Given the description of an element on the screen output the (x, y) to click on. 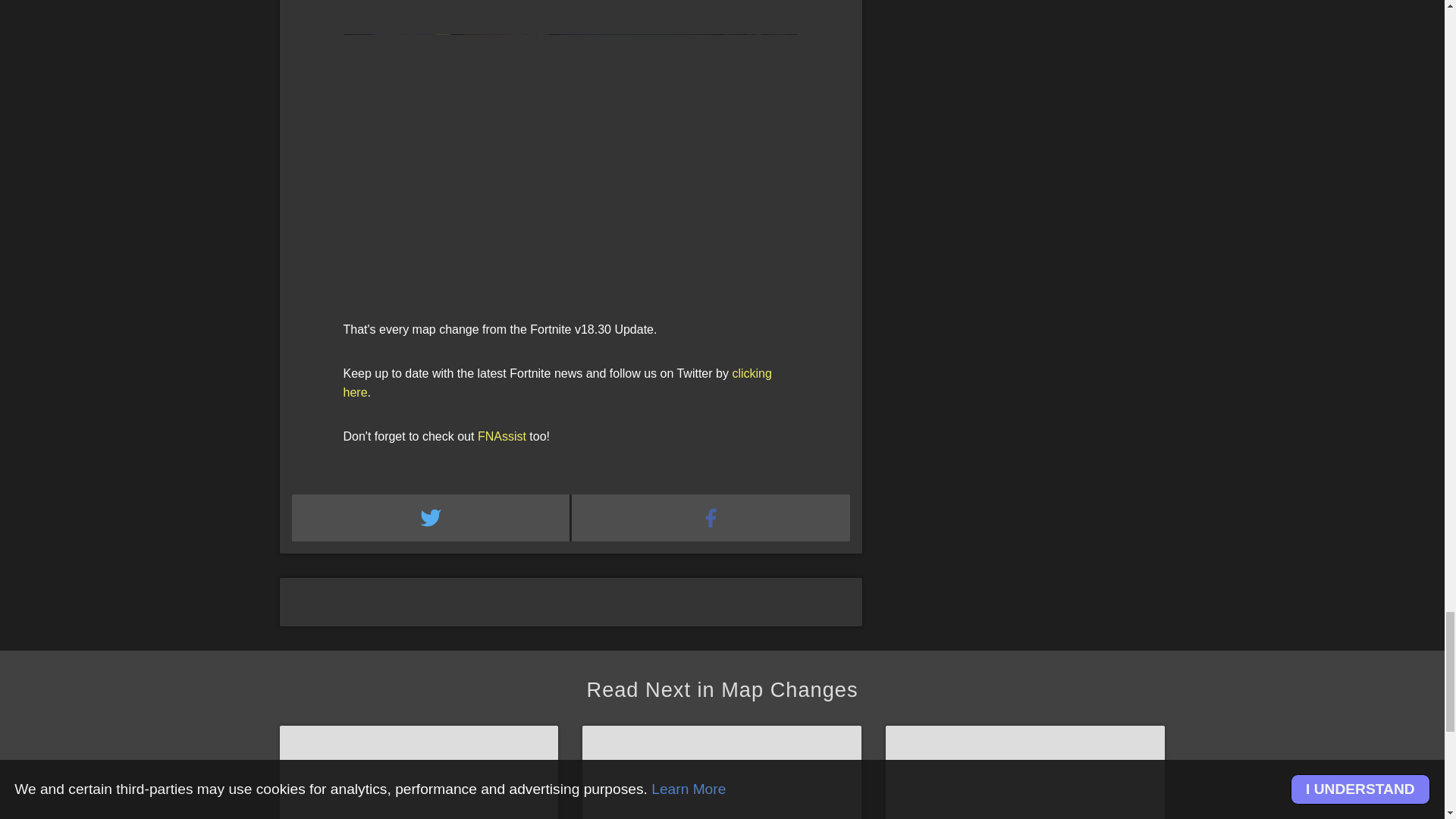
Share on Twitter (431, 517)
FNAssist (501, 436)
clicking here (556, 382)
Share on Facebook (711, 517)
